Given the description of an element on the screen output the (x, y) to click on. 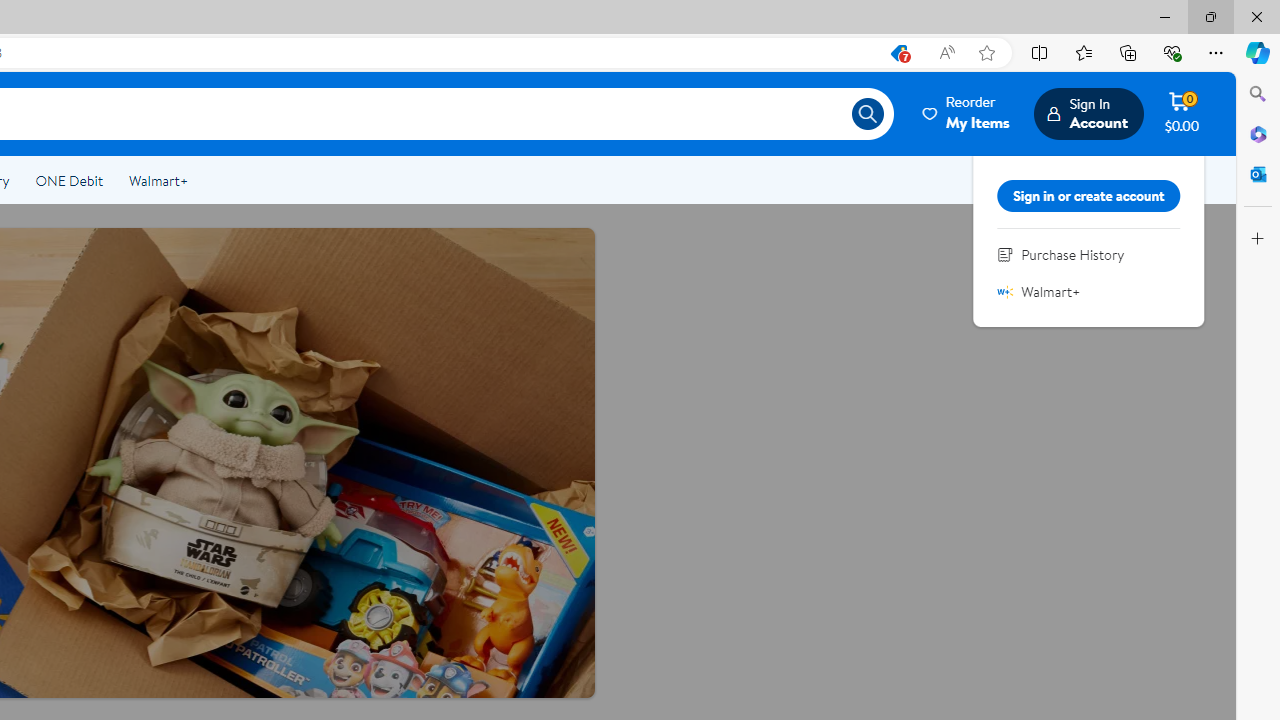
Sign In Account (1088, 113)
ONE Debit (68, 180)
Sign in or create account (1089, 195)
Walmart+ (158, 180)
Walmart+ (158, 180)
Outlook (1258, 174)
